Given the description of an element on the screen output the (x, y) to click on. 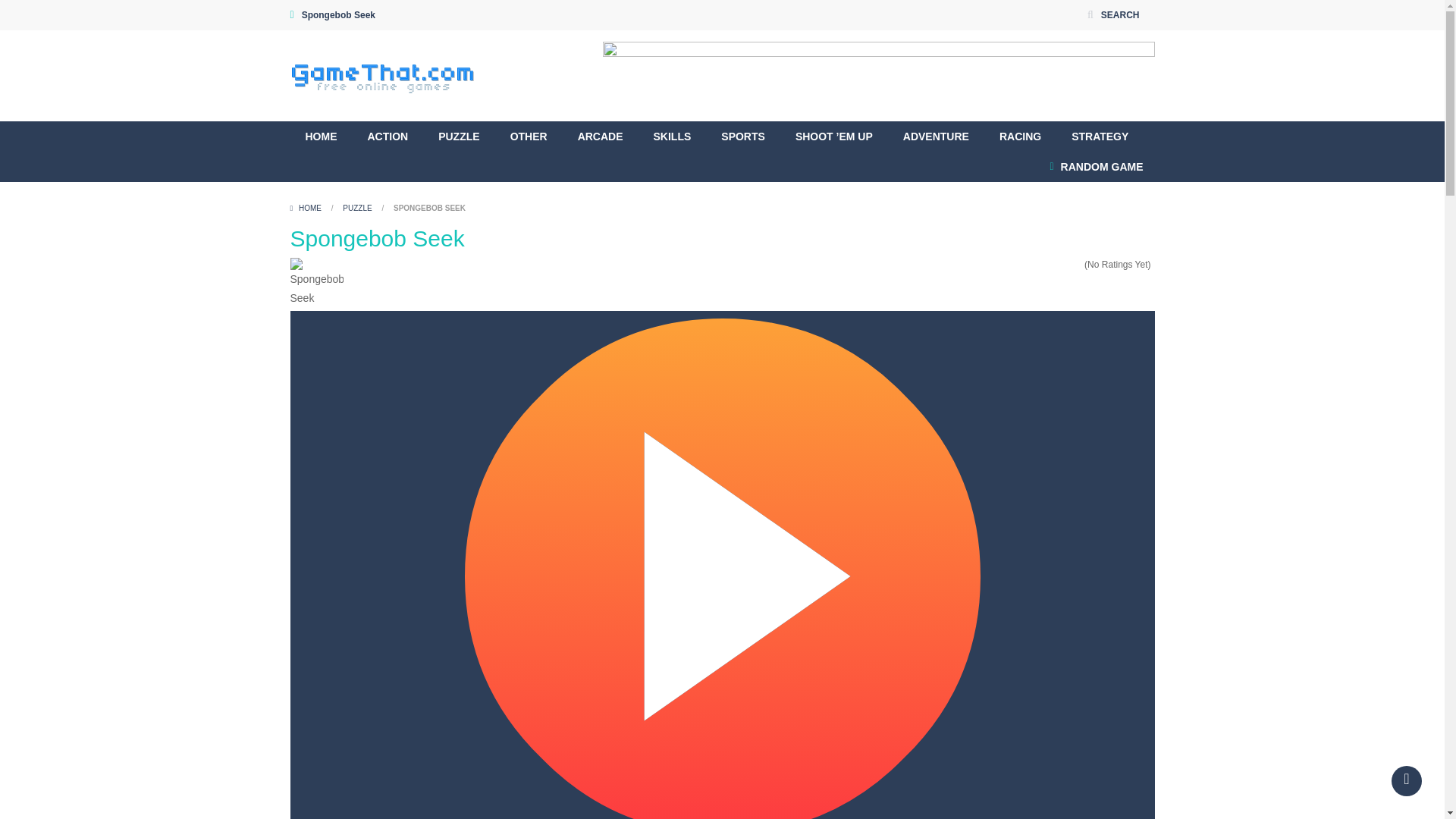
ADVENTURE (936, 136)
1 Star (1037, 265)
Home (306, 207)
2 Stars (1047, 265)
PUZZLE (459, 136)
SPORTS (743, 136)
SEARCH (1112, 15)
OTHER (528, 136)
GameThat.com (382, 75)
3 Stars (1057, 265)
